Given the description of an element on the screen output the (x, y) to click on. 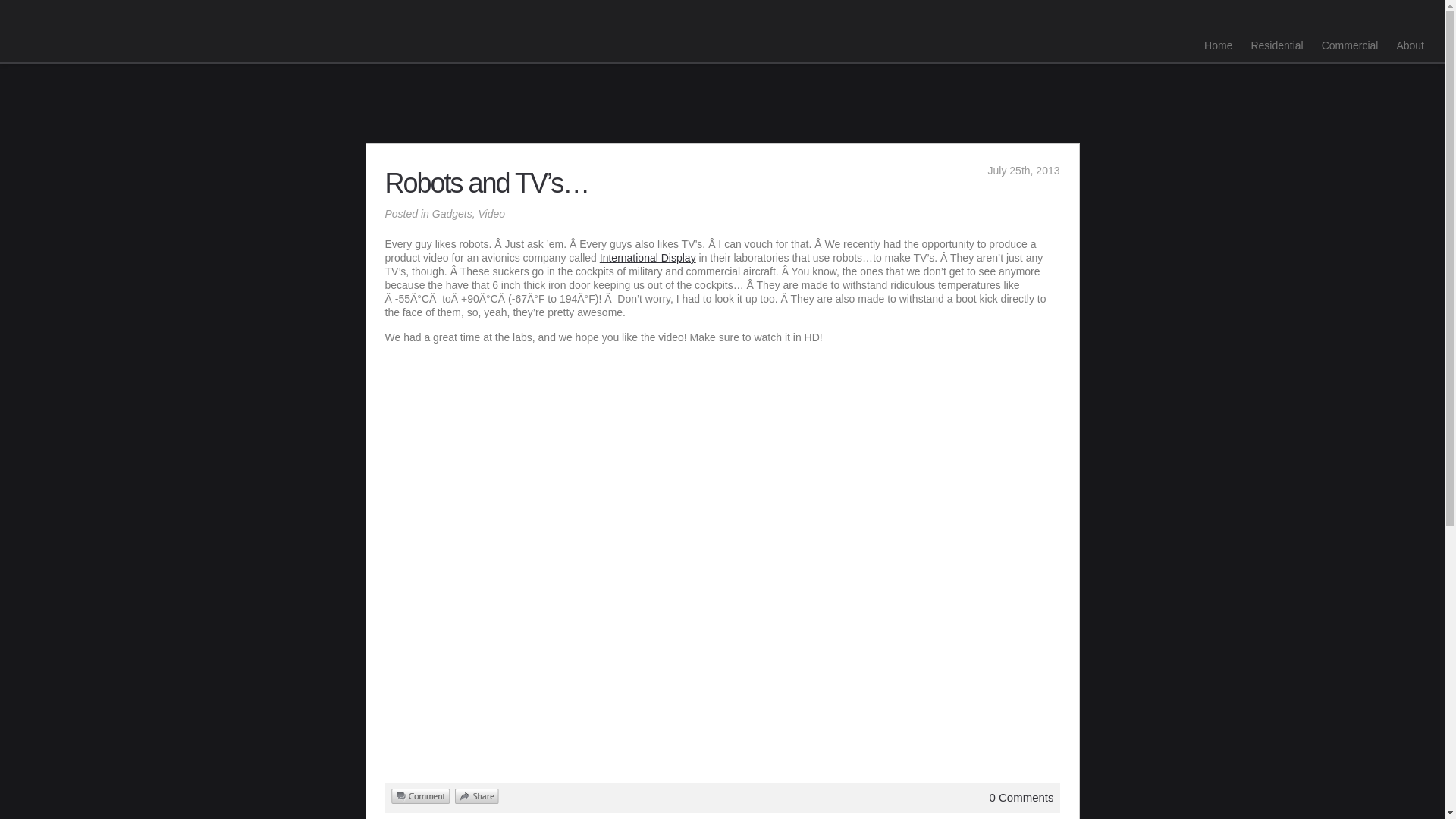
Adam Pendleton Photography Blog (103, 66)
Commercial (1350, 45)
Gadgets (451, 214)
Residential (1276, 45)
About (1409, 45)
International Display (647, 257)
Home (1218, 45)
Video (491, 214)
0 Comments (1020, 797)
